Given the description of an element on the screen output the (x, y) to click on. 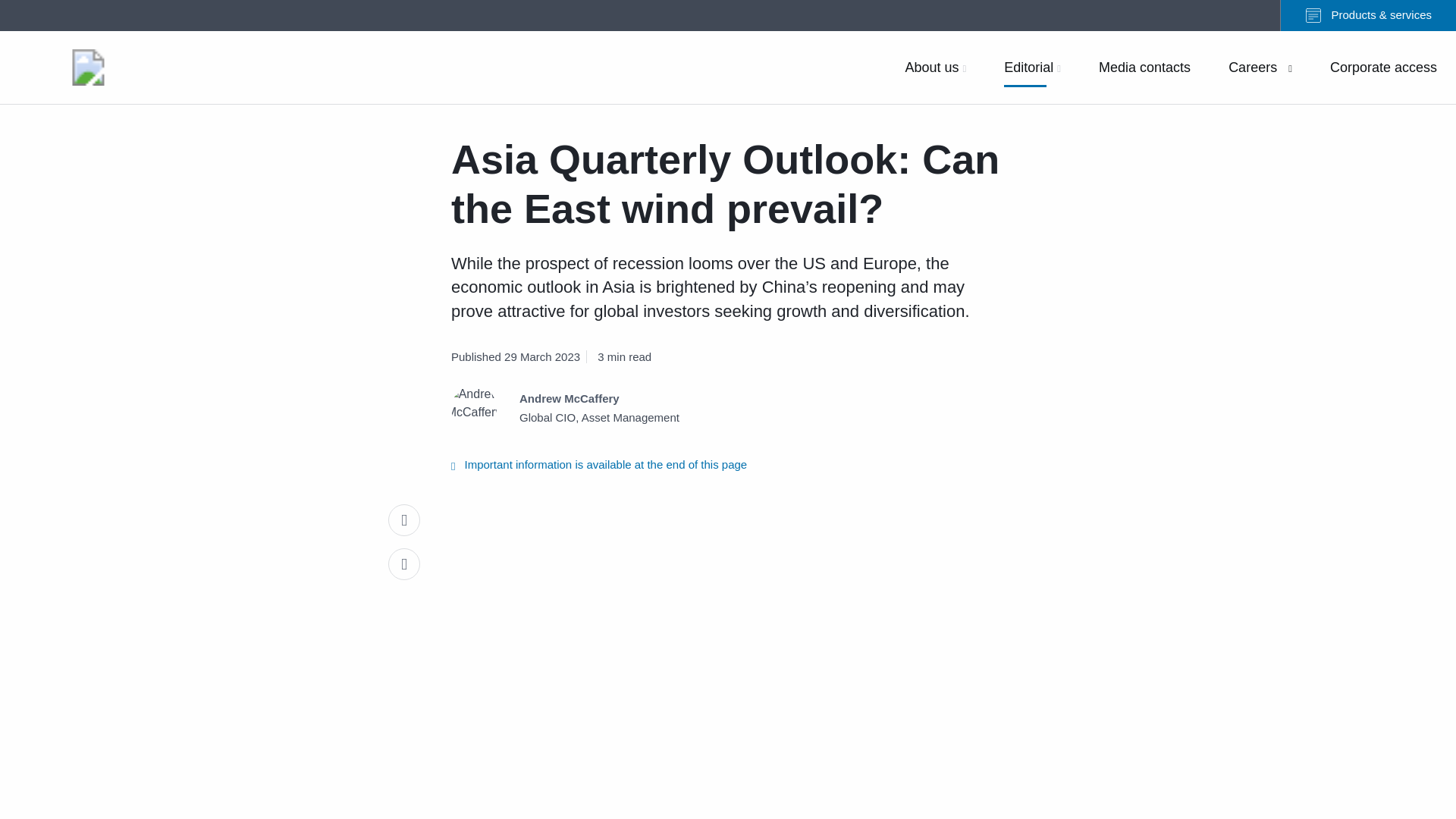
Corporate access (1383, 66)
Editorial (1031, 66)
Careers (1260, 66)
About us (934, 66)
Fidelity International Logo (88, 67)
Fidelity International Logo (88, 67)
Media contacts (1144, 66)
